Given the description of an element on the screen output the (x, y) to click on. 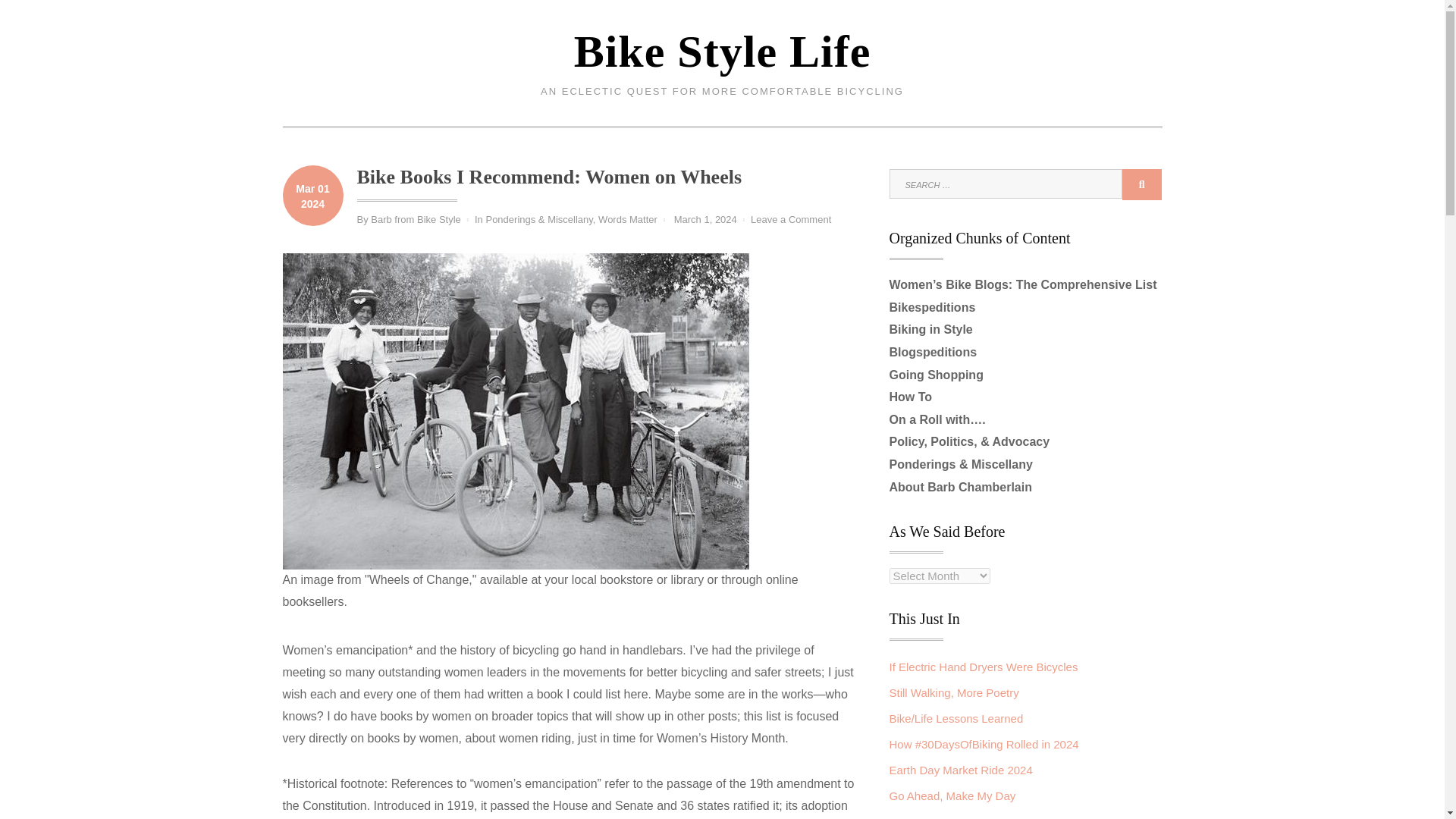
Blogspeditions (791, 219)
Words Matter (932, 351)
March 1, 2024 (628, 219)
Bikespeditions (705, 219)
Barb from Bike Style (931, 307)
Bike Style Life (416, 219)
